Given the description of an element on the screen output the (x, y) to click on. 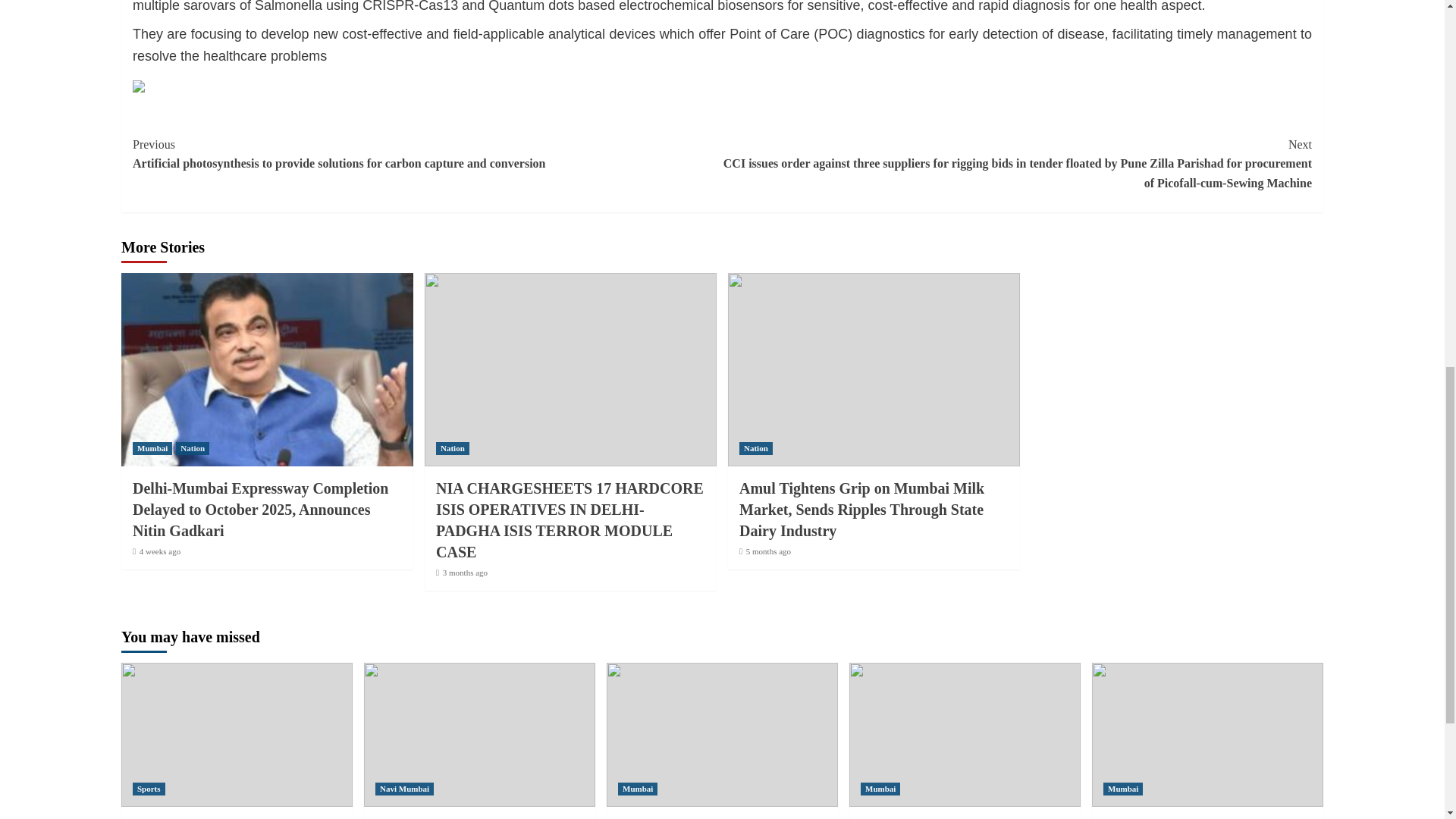
Mumbai (151, 448)
Nation (192, 448)
